Given the description of an element on the screen output the (x, y) to click on. 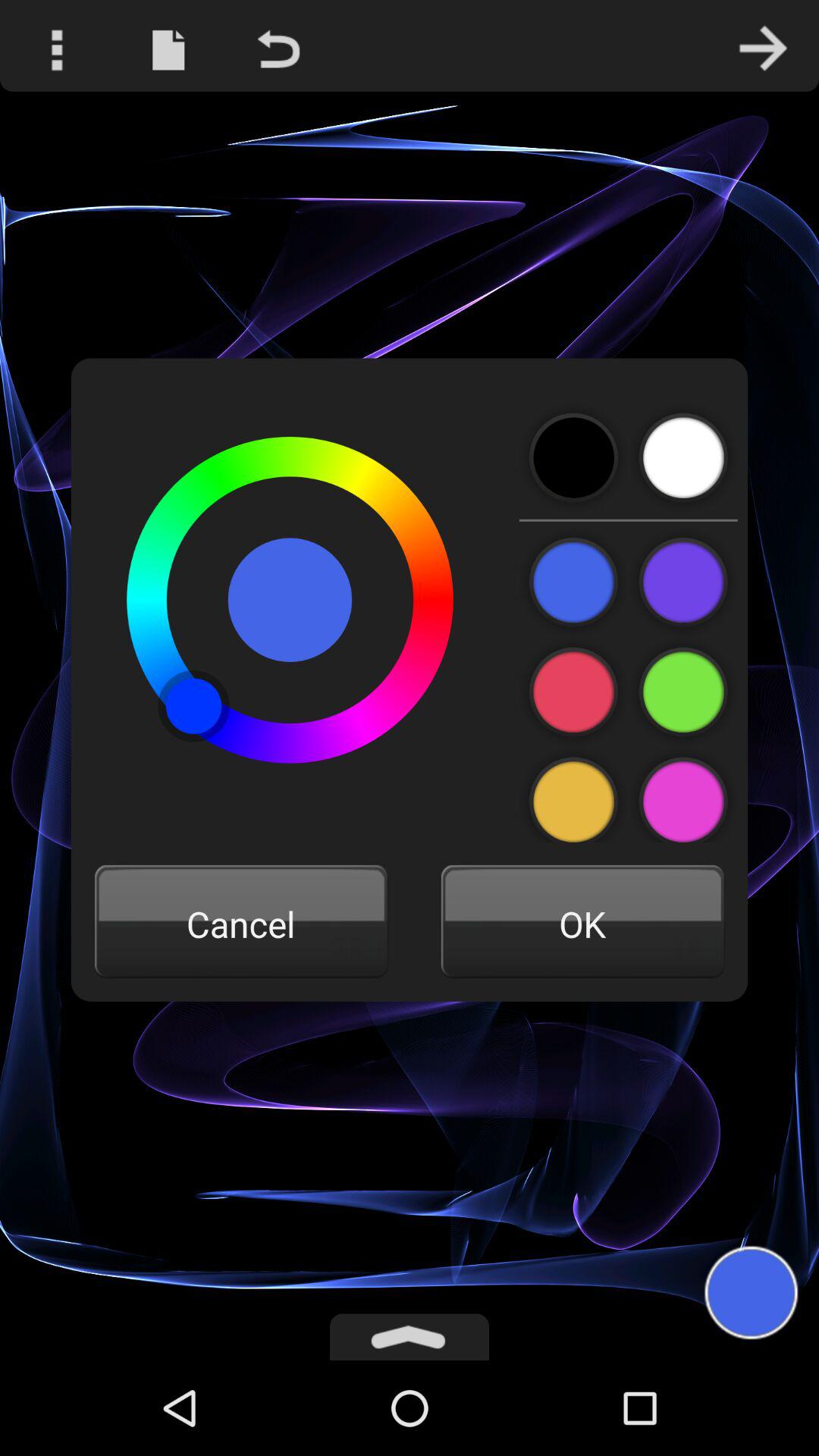
option (574, 582)
